Given the description of an element on the screen output the (x, y) to click on. 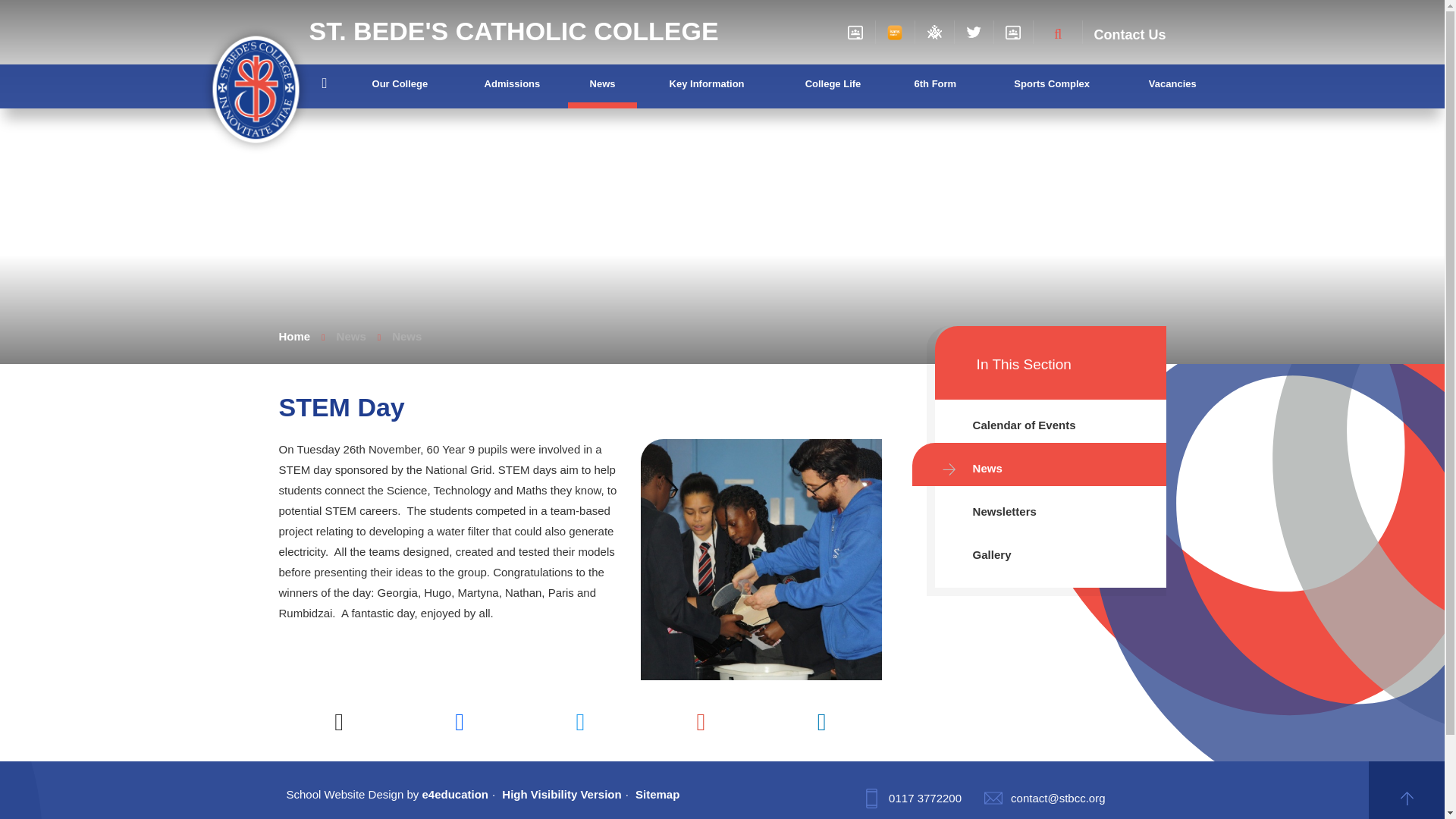
Home (323, 83)
Contact Us (1129, 34)
Our College (399, 82)
